Given the description of an element on the screen output the (x, y) to click on. 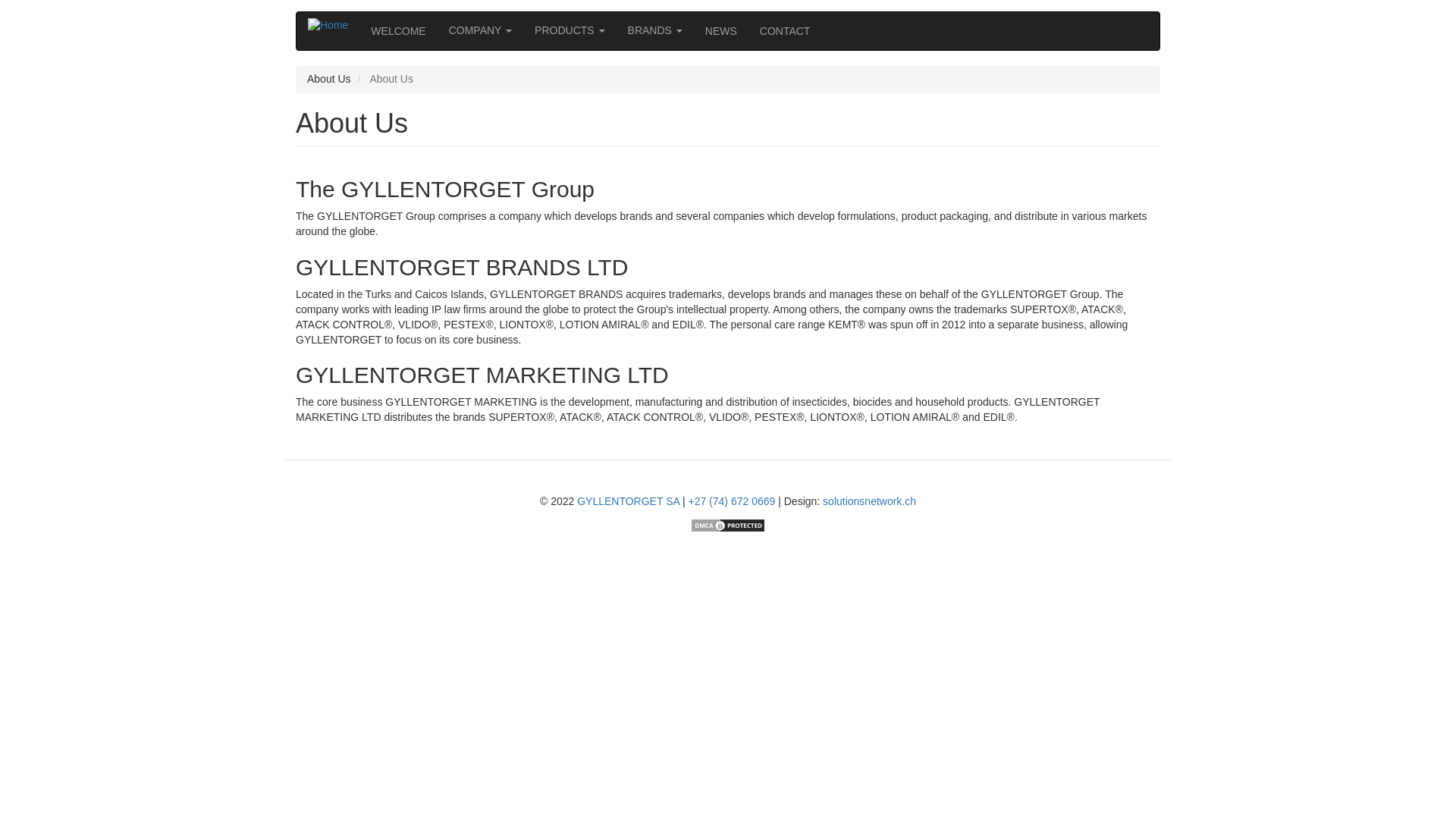
CONTACT (785, 30)
DMCA.com Protection Status (727, 523)
WELCOME (397, 30)
Front Page of the Gyllentorget Group (397, 30)
PRODUCTS (569, 30)
GYLLENTORGET SA (627, 500)
Contact (785, 30)
solutionsnetwork.ch (868, 500)
NEWS (721, 30)
